Given the description of an element on the screen output the (x, y) to click on. 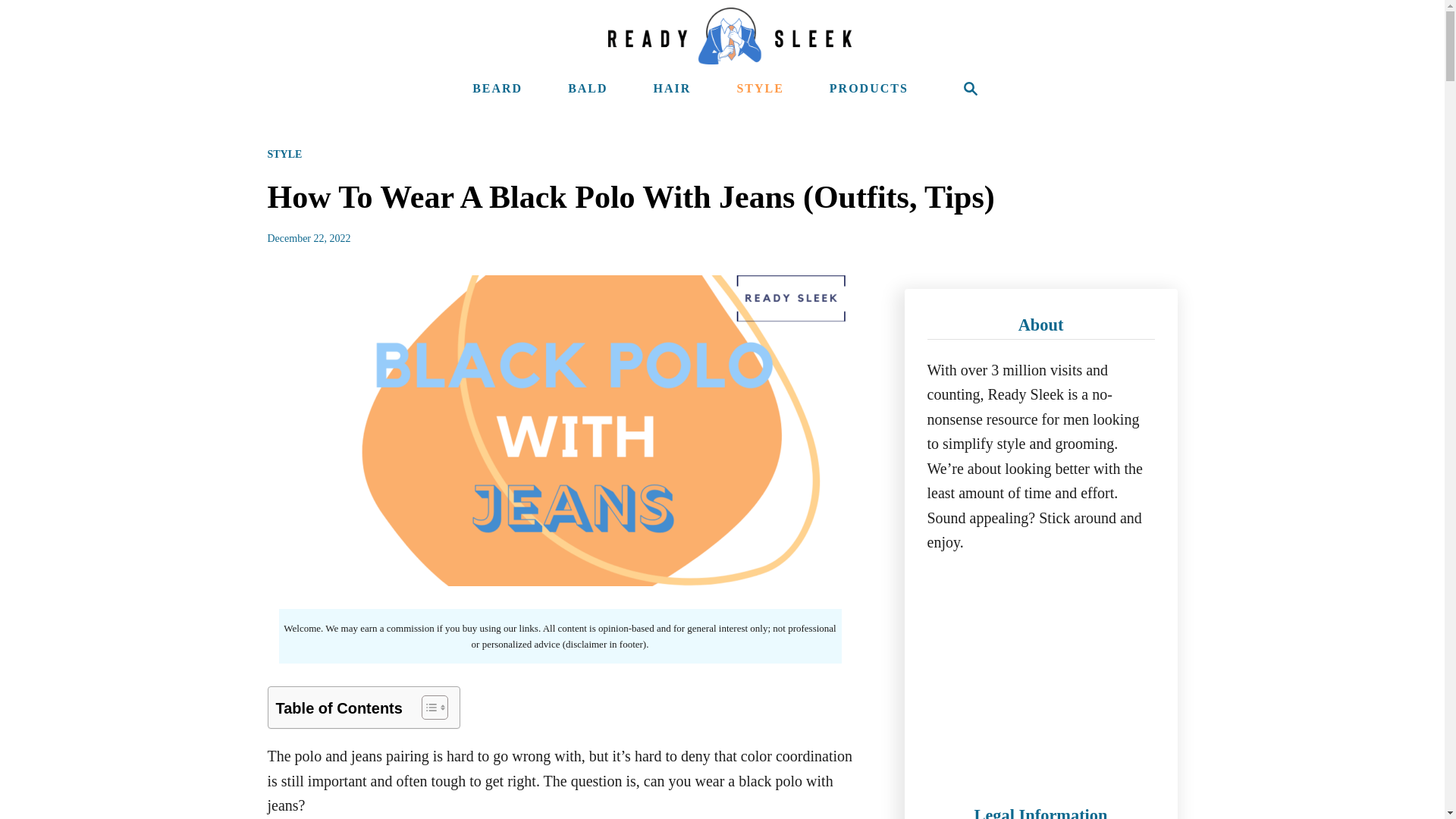
BEARD (496, 88)
PRODUCTS (868, 88)
BALD (587, 88)
STYLE (759, 88)
HAIR (672, 88)
STYLE (283, 153)
Search (970, 88)
Ready Sleek (730, 35)
